Given the description of an element on the screen output the (x, y) to click on. 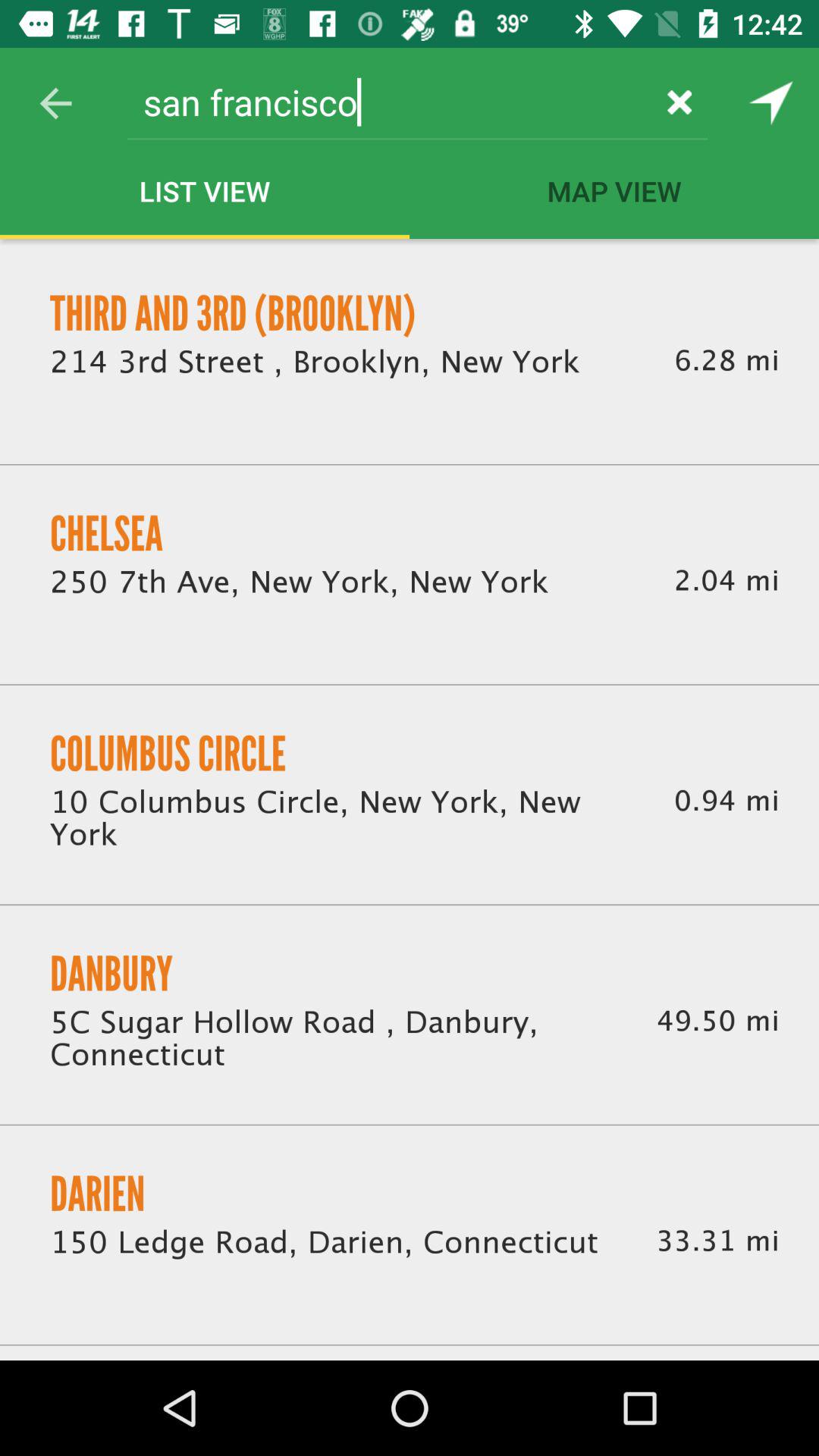
click icon next to 150 ledge road item (717, 1240)
